Given the description of an element on the screen output the (x, y) to click on. 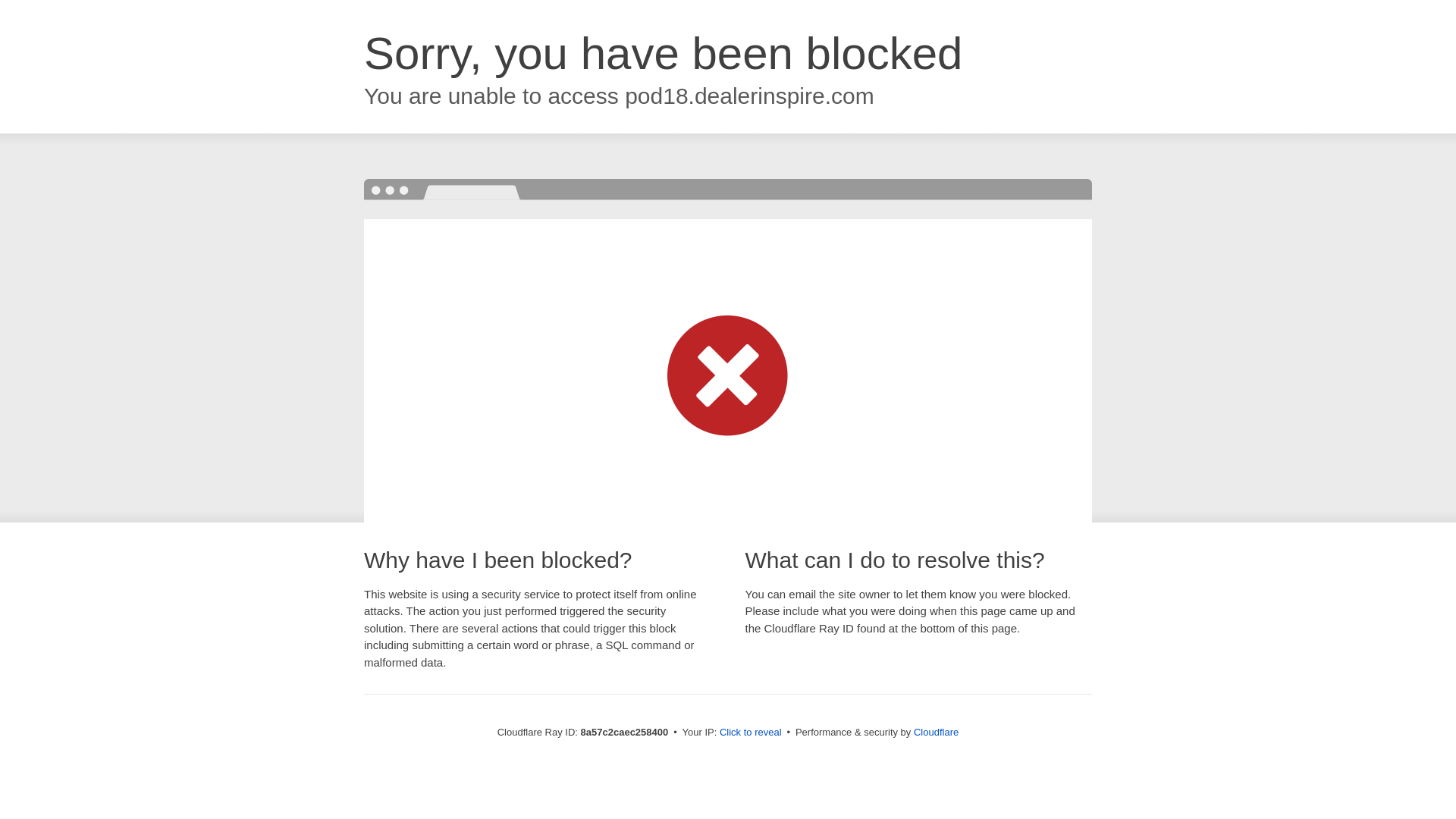
Click to reveal (750, 732)
Cloudflare (936, 731)
